Given the description of an element on the screen output the (x, y) to click on. 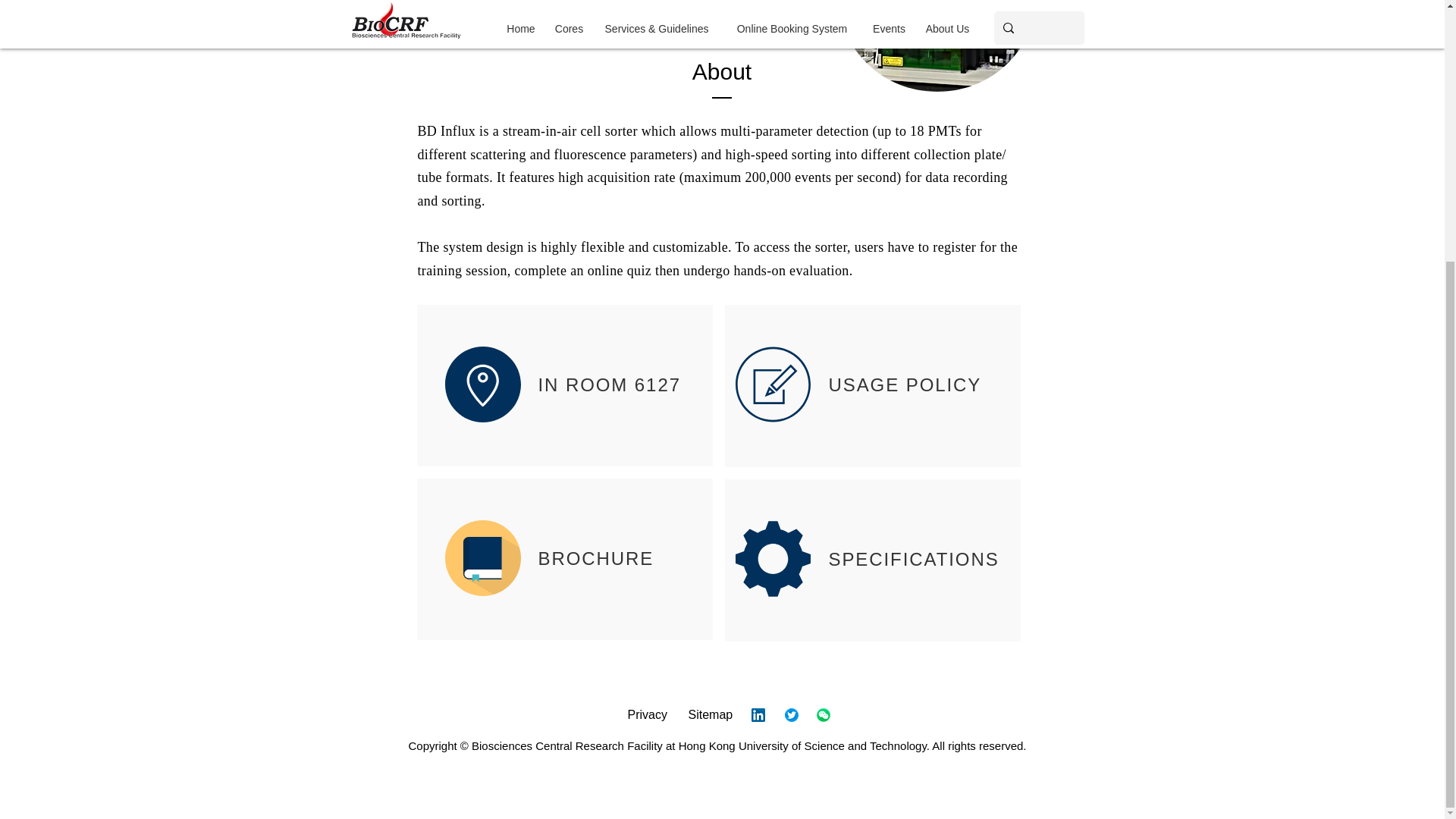
Hong Kong University of Science and Technology (802, 745)
Sitemap (710, 714)
IN ROOM 6127 (609, 384)
Privacy (646, 714)
BROCHURE (595, 557)
USAGE POLICY (903, 384)
SPECIFICATIONS (913, 558)
